Given the description of an element on the screen output the (x, y) to click on. 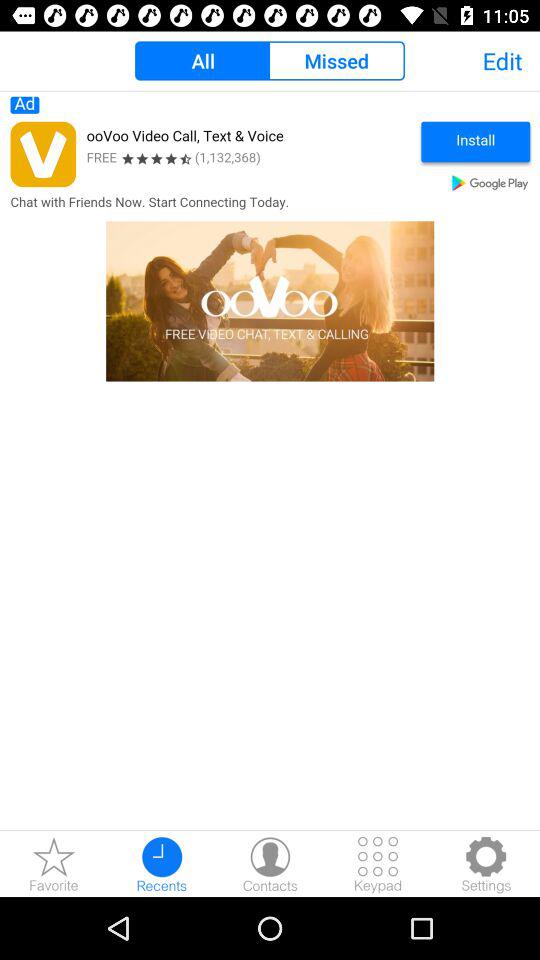
open keypad (377, 864)
